Given the description of an element on the screen output the (x, y) to click on. 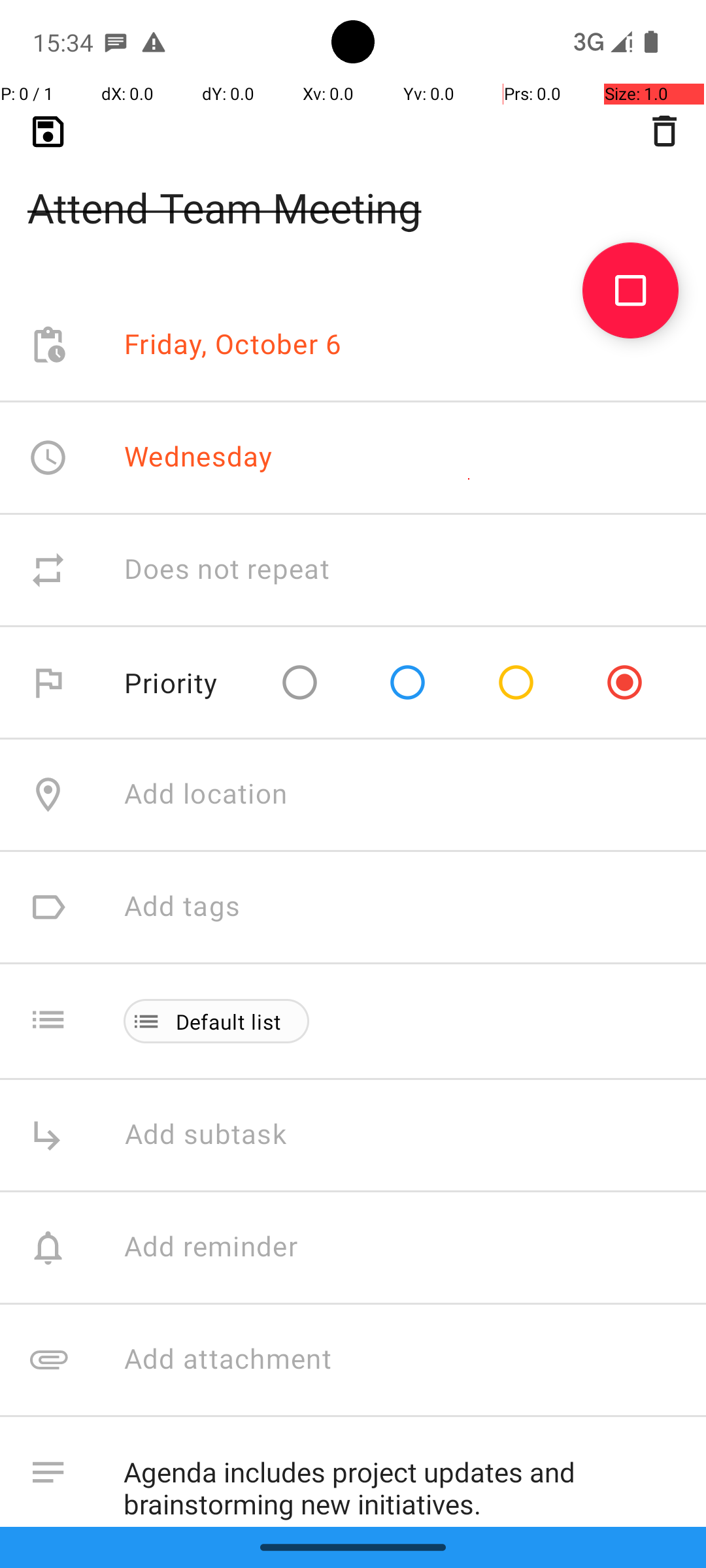
Agenda includes project updates and brainstorming new initiatives. Element type: android.widget.EditText (400, 1481)
Friday, October 6 Element type: android.widget.TextView (232, 344)
